Given the description of an element on the screen output the (x, y) to click on. 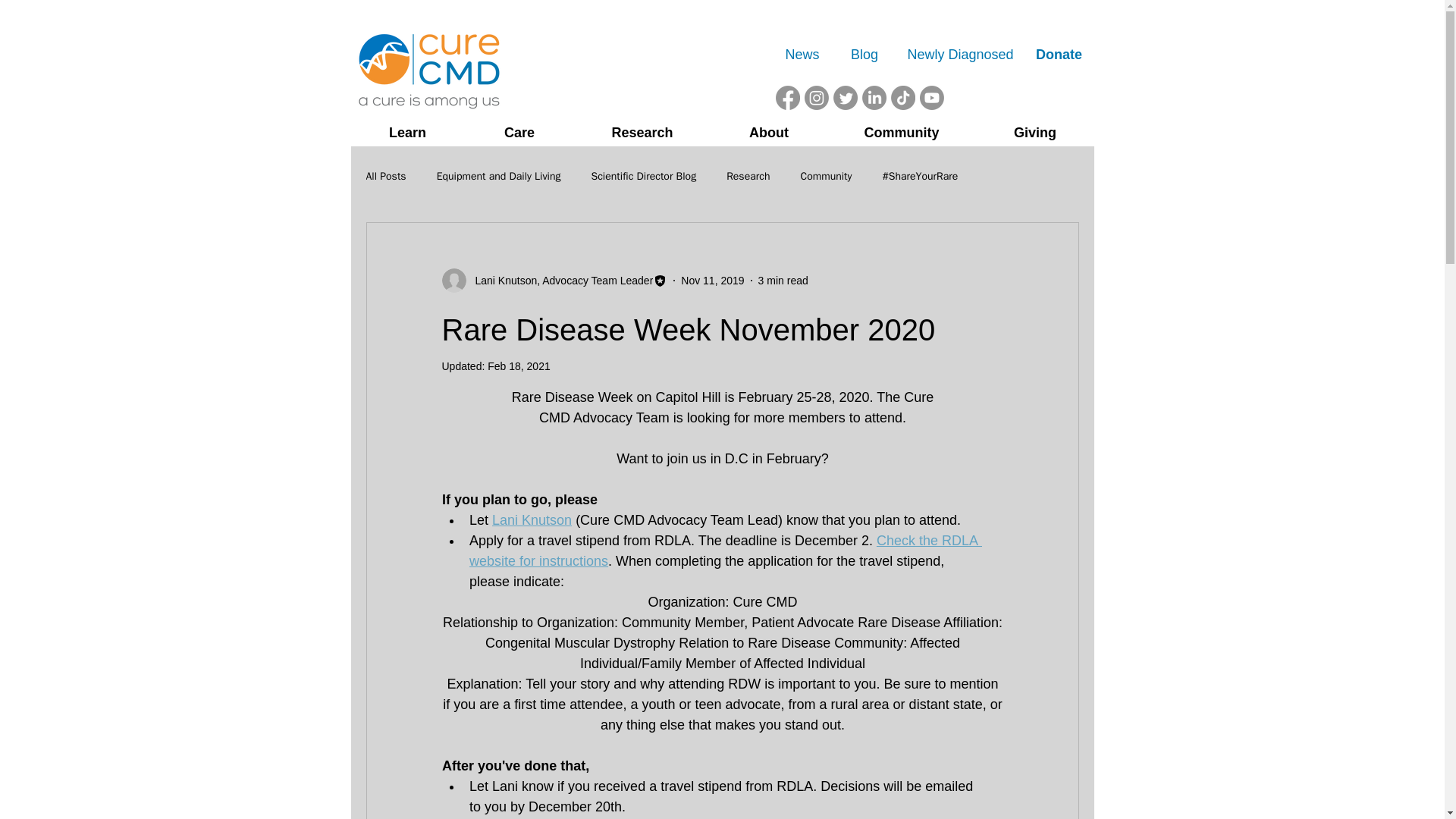
Feb 18, 2021 (518, 366)
Nov 11, 2019 (712, 280)
Newly Diagnosed (960, 54)
Lani Knutson, Advocacy Team Leader (558, 280)
Blog (863, 54)
Donate (1058, 54)
3 min read (783, 280)
News (801, 54)
